Given the description of an element on the screen output the (x, y) to click on. 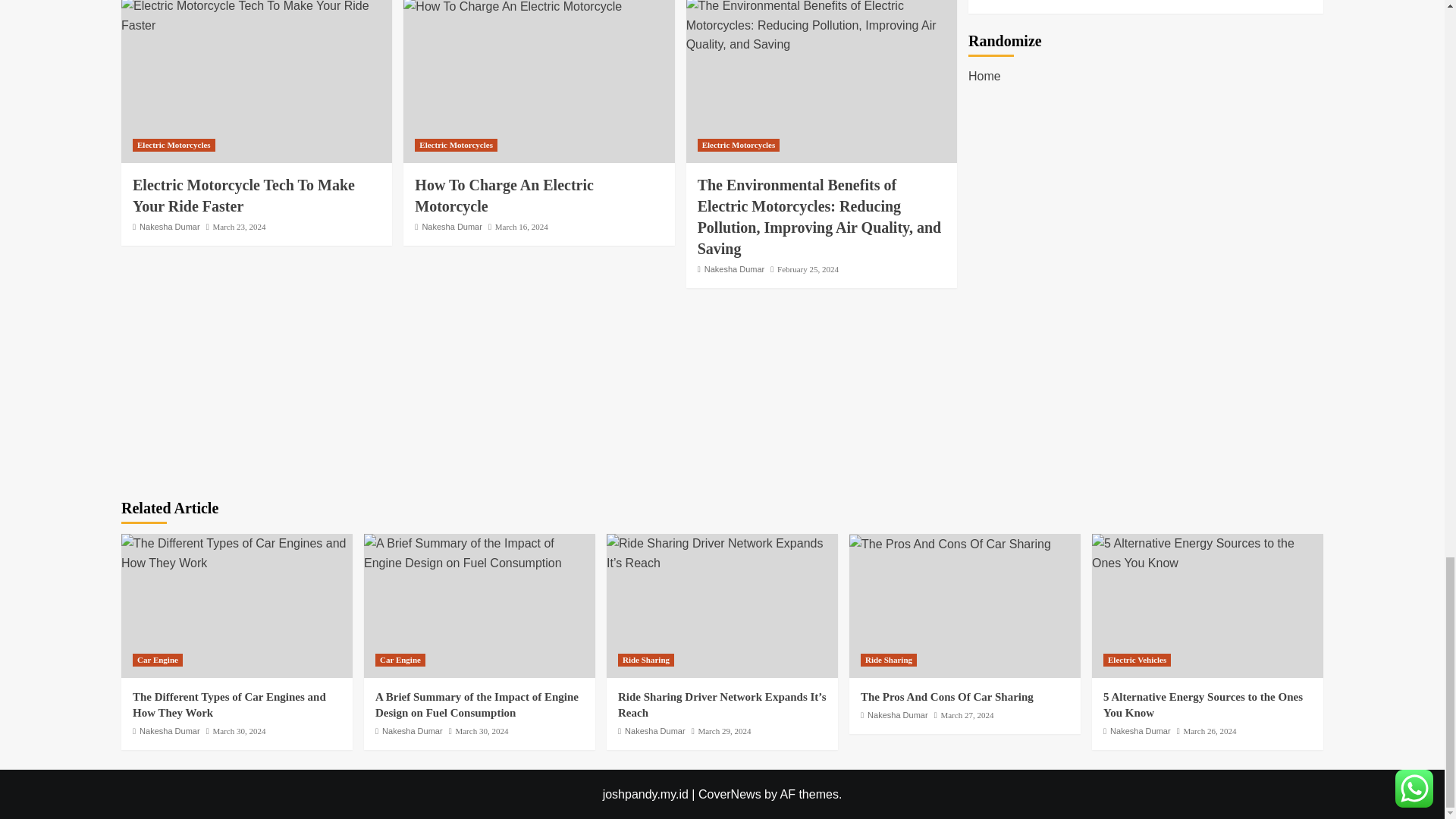
Electric Motorcycles (173, 144)
How To Charge An Electric Motorcycle (512, 8)
Electric Motorcycle Tech To Make Your Ride Faster (255, 17)
Nakesha Dumar (169, 225)
Electric Motorcycle Tech To Make Your Ride Faster (243, 195)
